Given the description of an element on the screen output the (x, y) to click on. 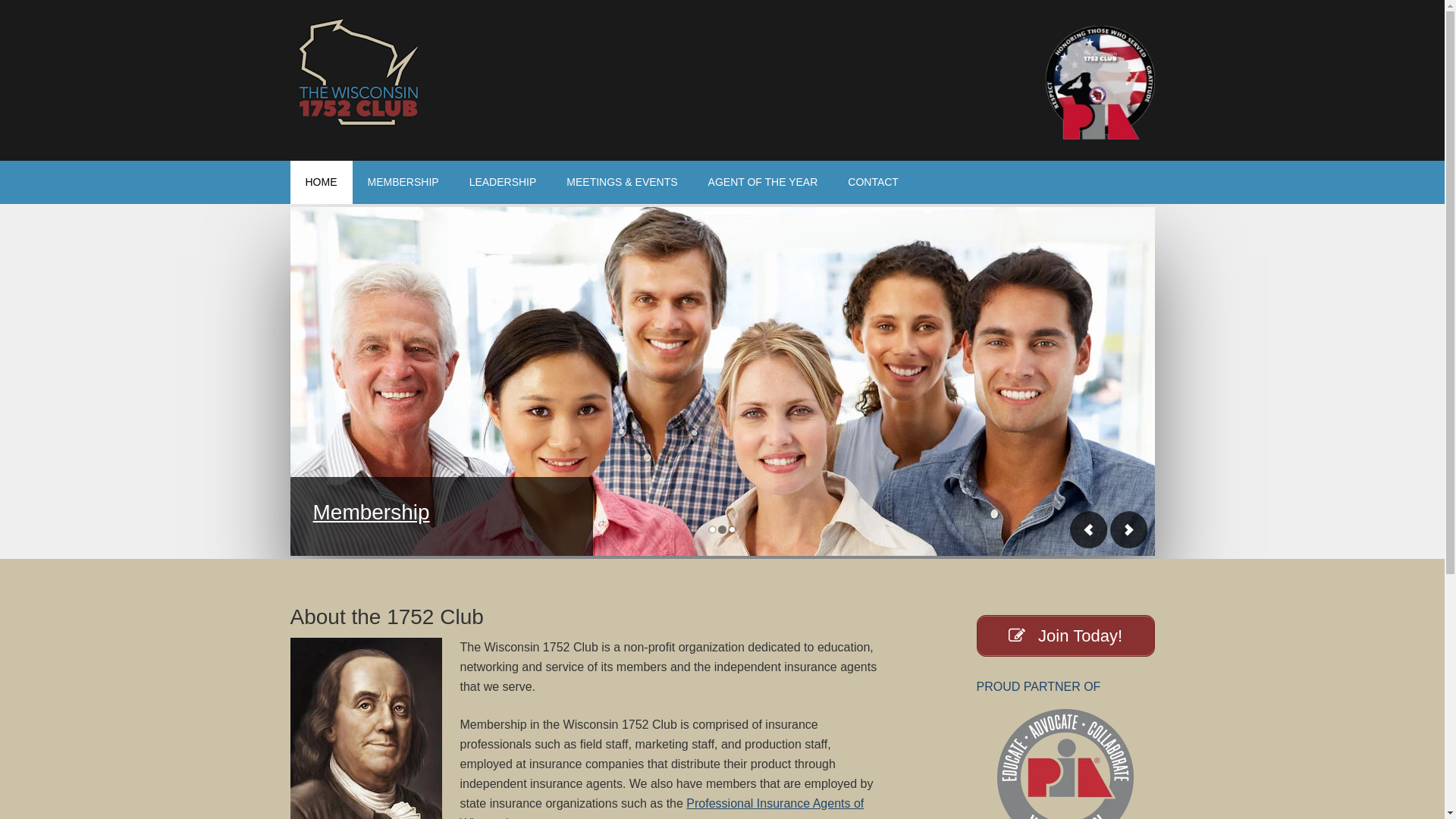
Next Element type: text (1127, 529)
LEADERSHIP Element type: text (503, 181)
MEETINGS & EVENTS Element type: text (621, 181)
CONTACT Element type: text (872, 181)
MEMBERSHIP Element type: text (402, 181)
Membership Element type: text (370, 512)
1 Element type: text (712, 530)
Join Today! Element type: text (1065, 635)
Previous Element type: text (1088, 529)
AGENT OF THE YEAR Element type: text (763, 181)
HOME Element type: text (320, 181)
THE WISCONSIN 1752 CLUB Element type: text (357, 71)
2 Element type: text (722, 530)
3 Element type: text (732, 530)
